Given the description of an element on the screen output the (x, y) to click on. 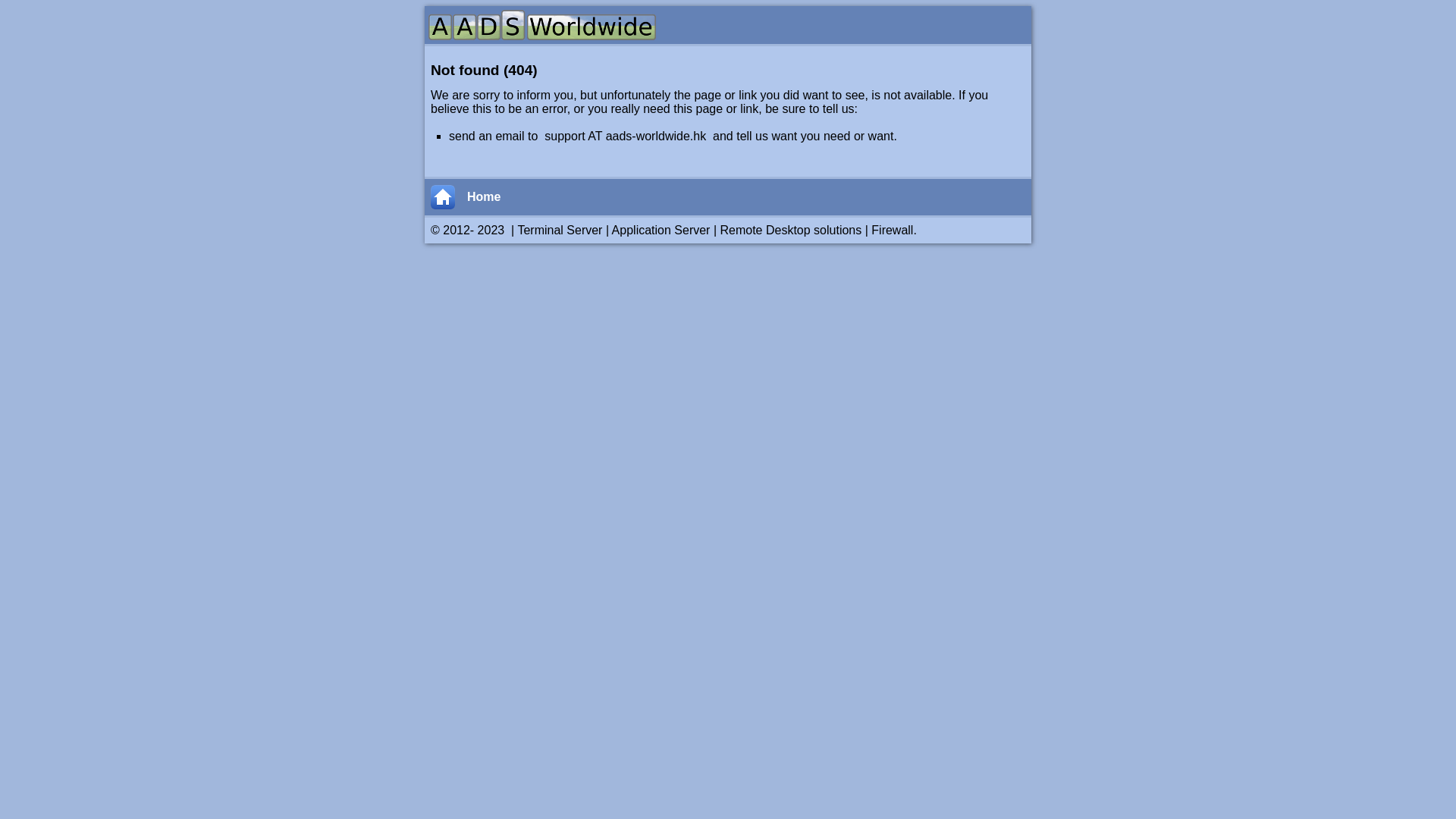
Home Element type: text (746, 197)
